Given the description of an element on the screen output the (x, y) to click on. 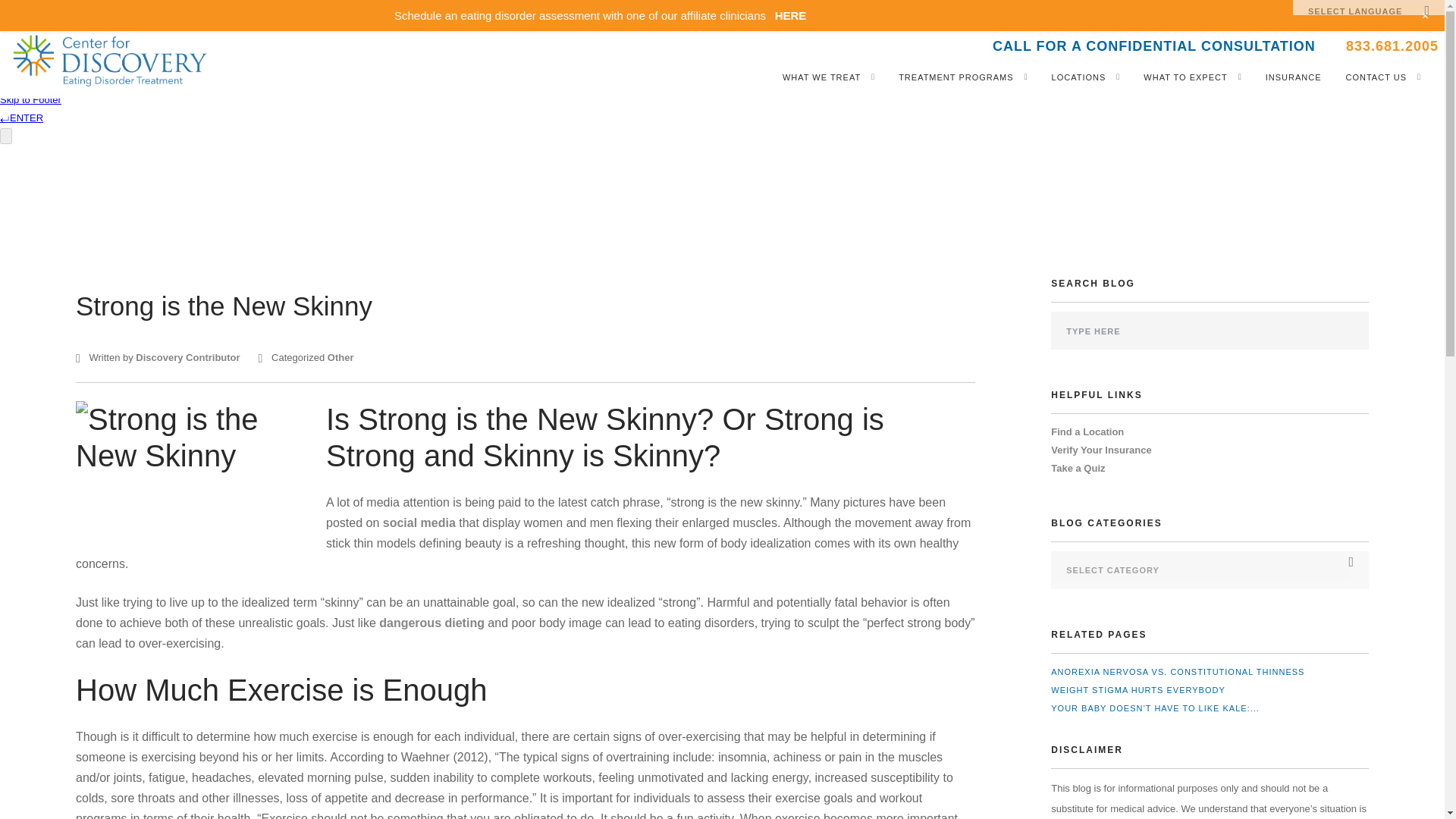
833.681.2005 (1391, 51)
LOCATIONS (1078, 78)
TREATMENT PROGRAMS (955, 78)
Posts by Discovery Contributor (187, 357)
WHAT WE TREAT (821, 78)
